Given the description of an element on the screen output the (x, y) to click on. 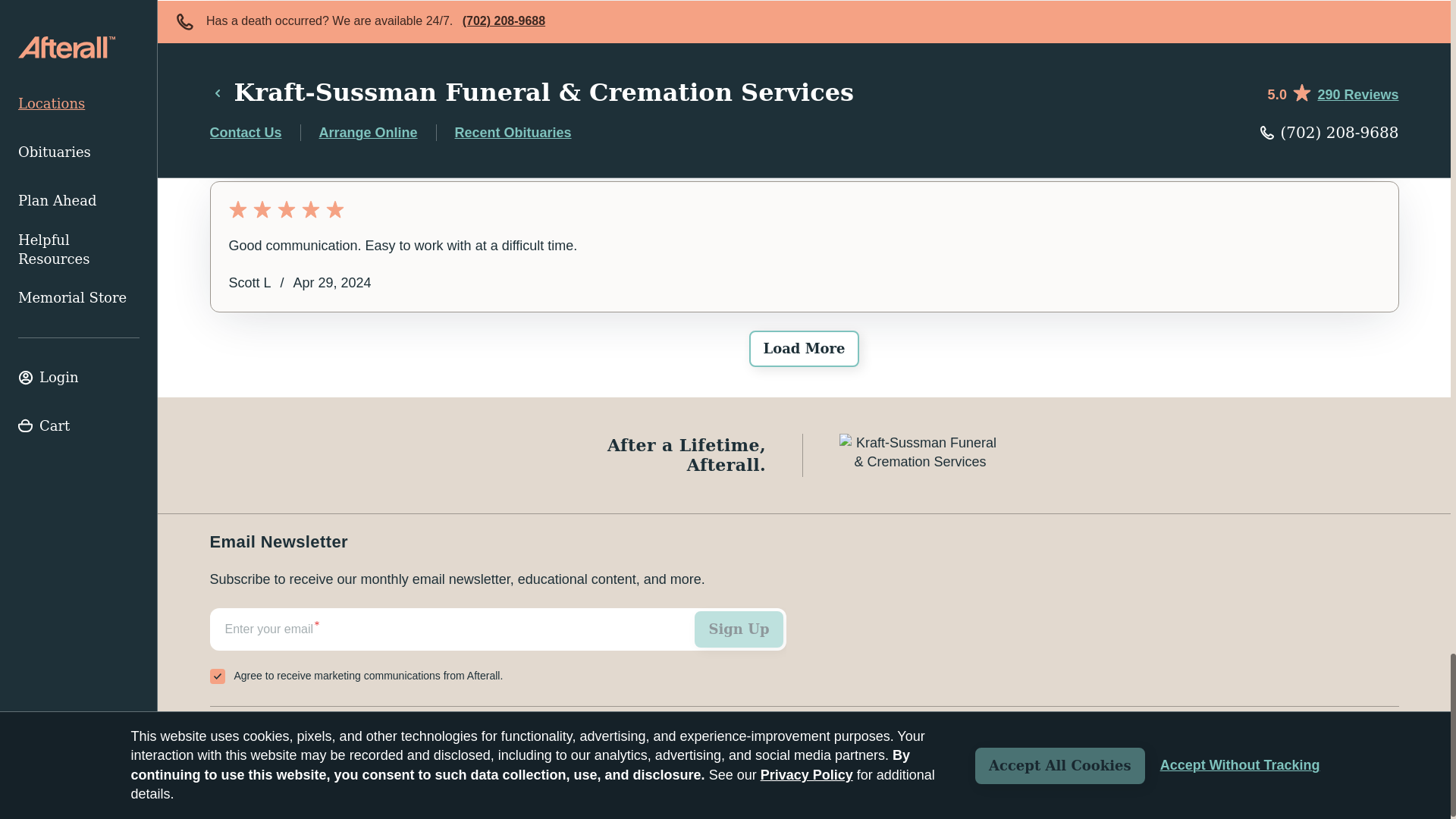
5 out of 5 Customer Rating (804, 208)
5 out of 5 Customer Rating (804, 41)
